Given the description of an element on the screen output the (x, y) to click on. 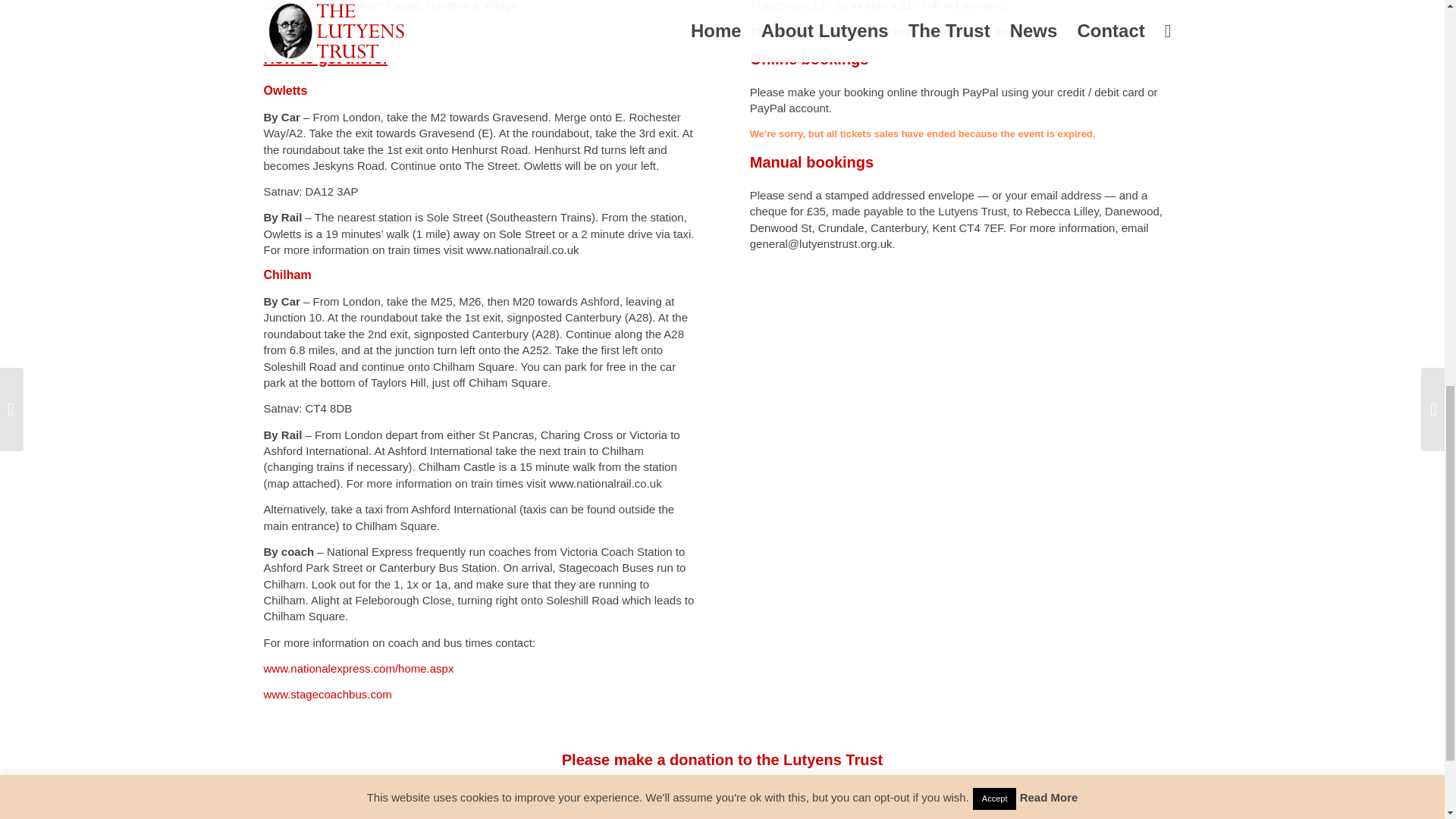
join here (953, 30)
www.stagecoachbus.com (327, 694)
